Given the description of an element on the screen output the (x, y) to click on. 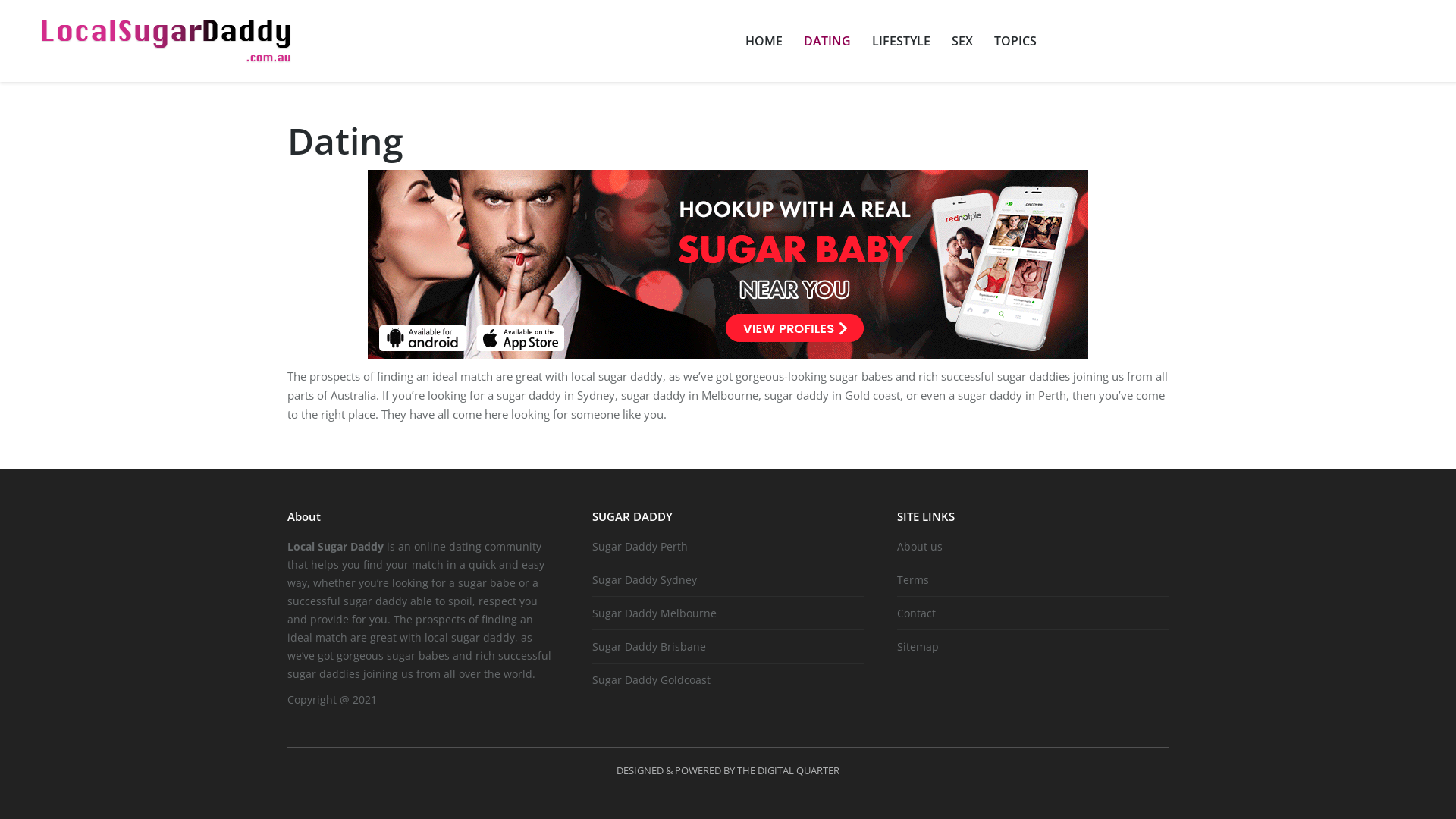
LIFESTYLE Element type: text (901, 40)
Sugar Daddy Goldcoast Element type: text (656, 679)
DATING Element type: text (826, 40)
Sugar Daddy Melbourne Element type: text (660, 612)
HOME Element type: text (762, 40)
Contact Element type: text (922, 612)
Sitemap Element type: text (923, 646)
Sugar Daddy Brisbane Element type: text (654, 646)
SEX Element type: text (961, 40)
Sugar Daddy Sydney Element type: text (650, 579)
TOPICS Element type: text (1014, 40)
About us Element type: text (925, 546)
Sugar Daddy Perth Element type: text (645, 546)
Terms Element type: text (918, 579)
